Given the description of an element on the screen output the (x, y) to click on. 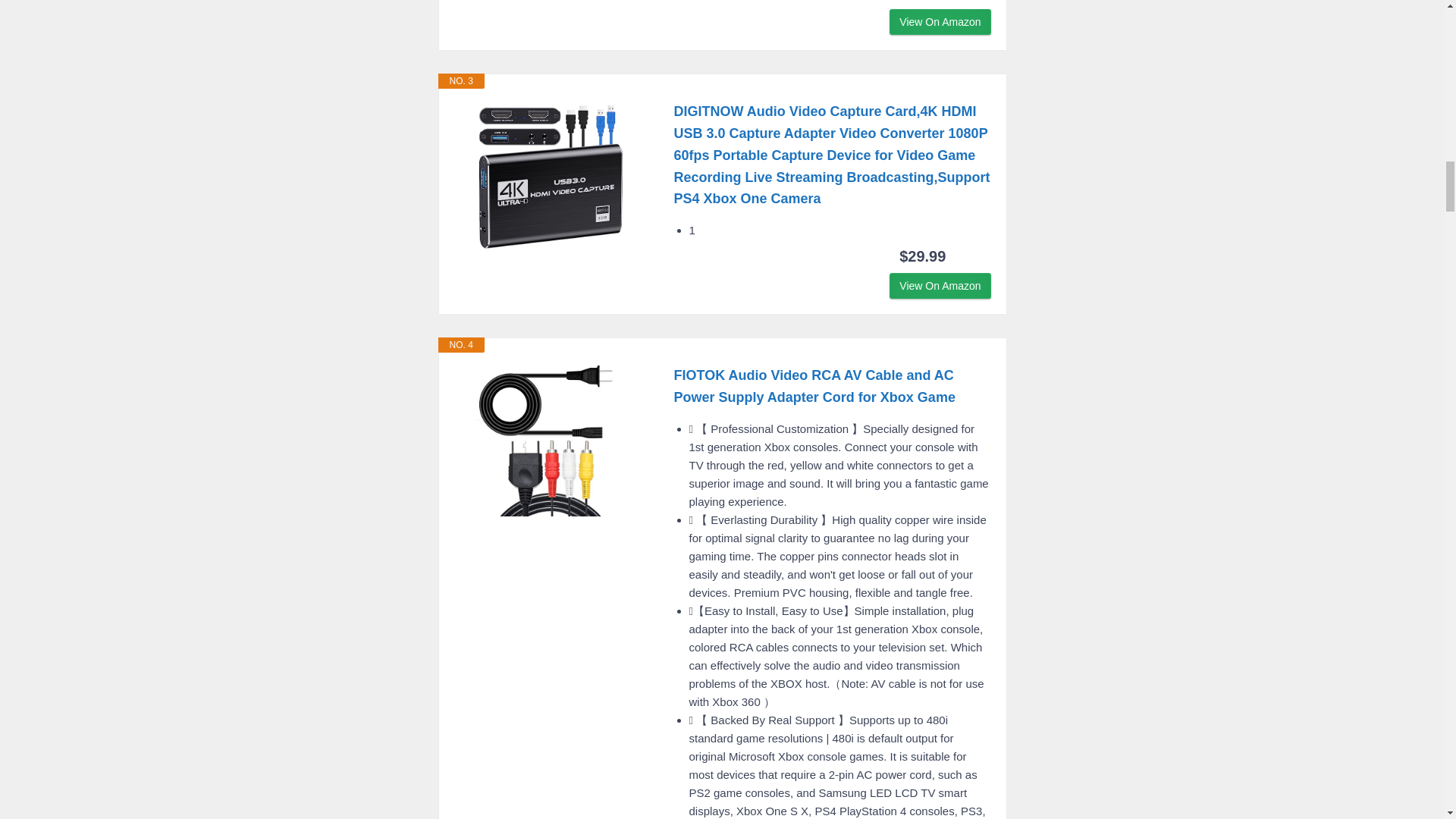
View On Amazon (939, 285)
View On Amazon (939, 22)
